Given the description of an element on the screen output the (x, y) to click on. 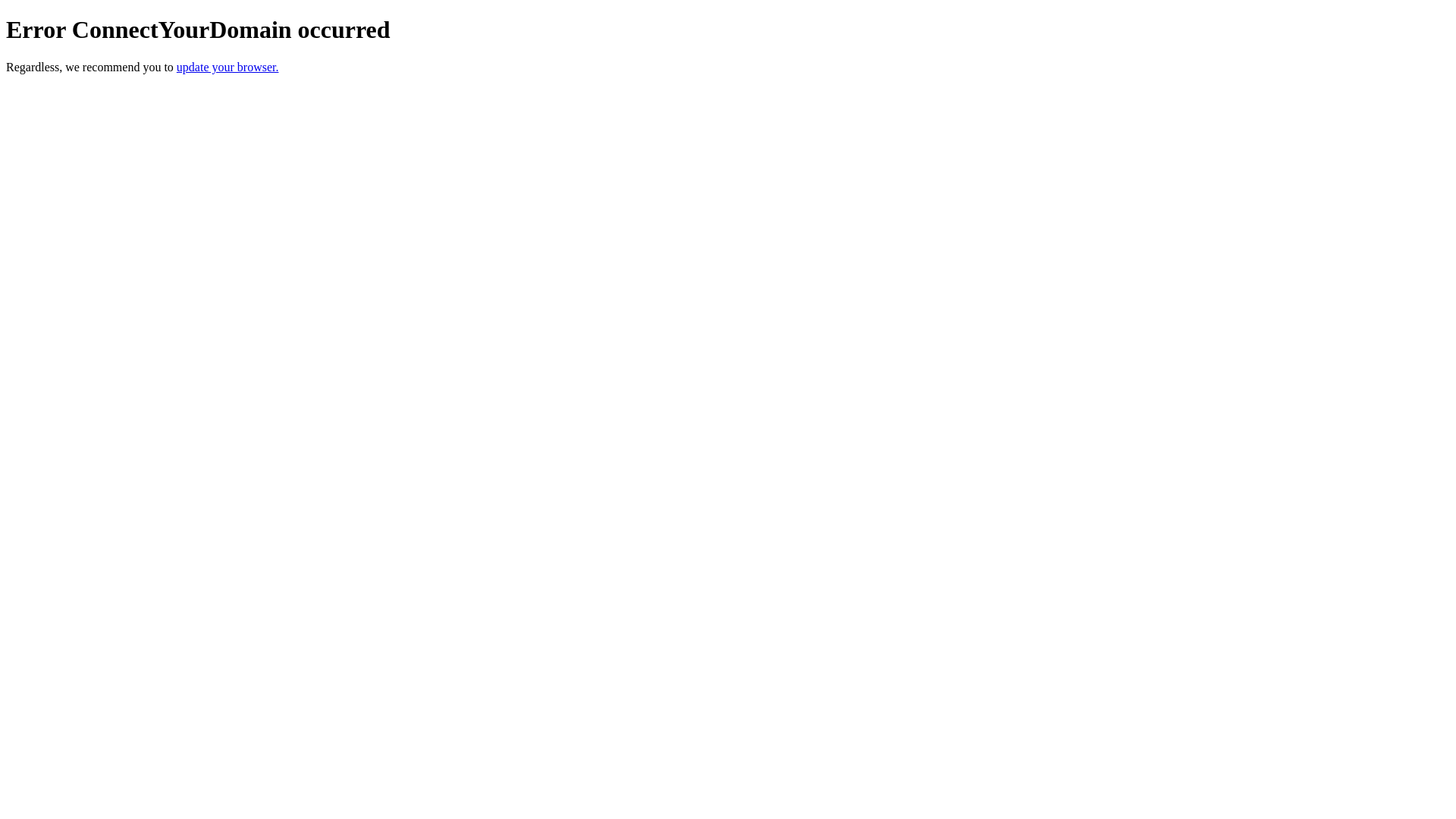
update your browser. Element type: text (227, 66)
